Given the description of an element on the screen output the (x, y) to click on. 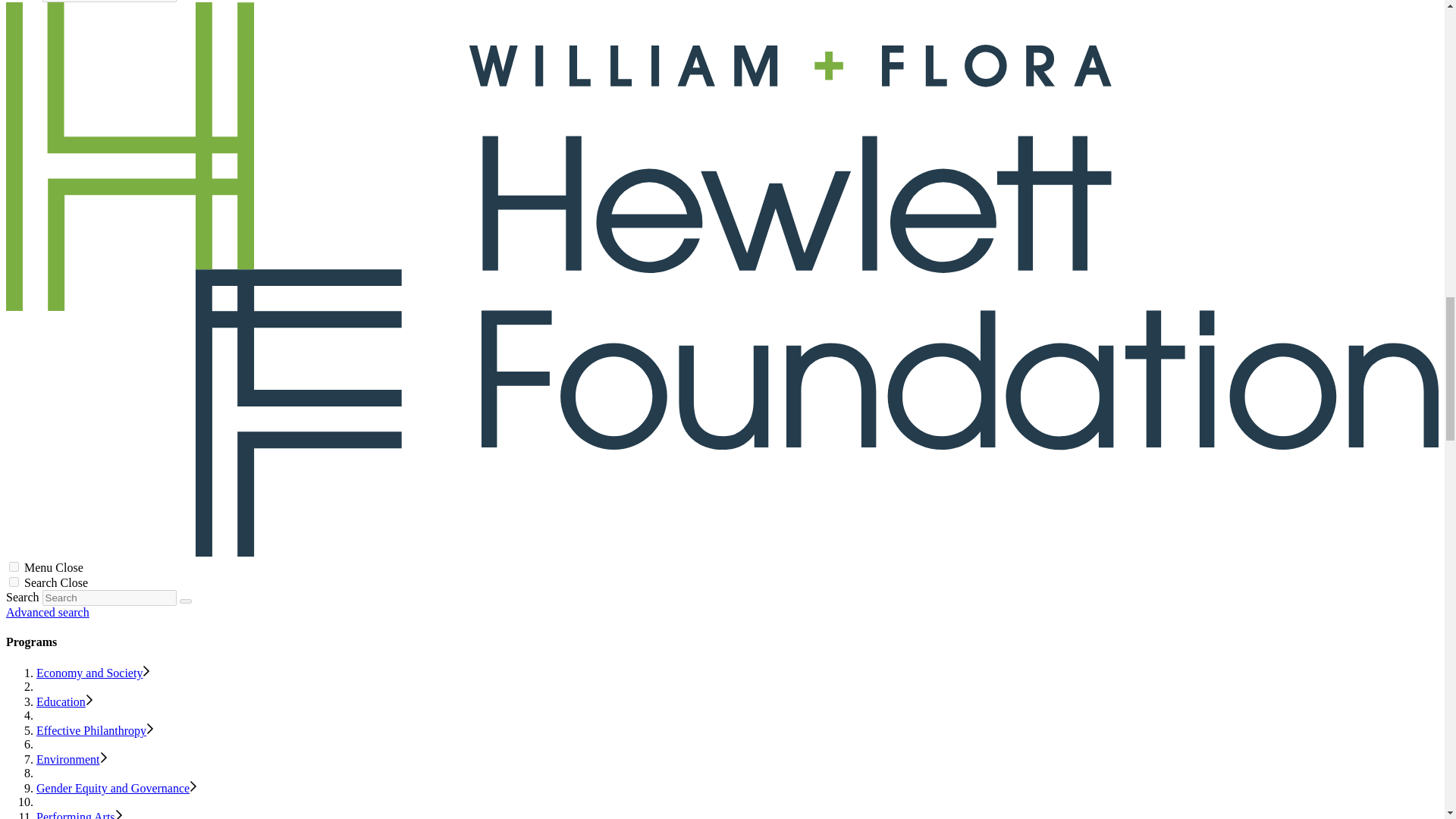
Search (185, 600)
on (13, 566)
Advanced search (46, 612)
Economy and Society (89, 672)
on (13, 582)
